Given the description of an element on the screen output the (x, y) to click on. 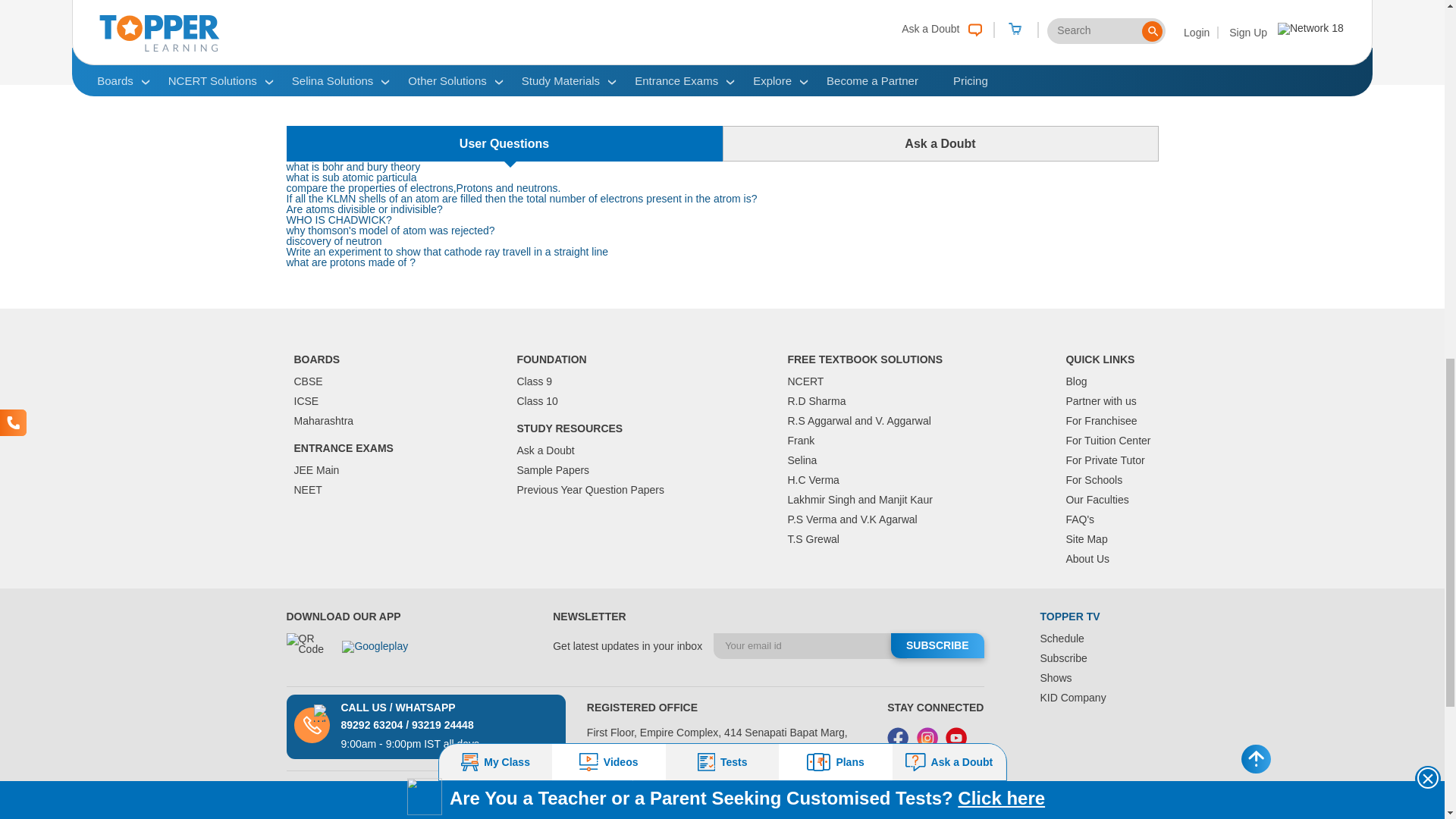
Googleplay (385, 653)
QR Code (307, 653)
